Given the description of an element on the screen output the (x, y) to click on. 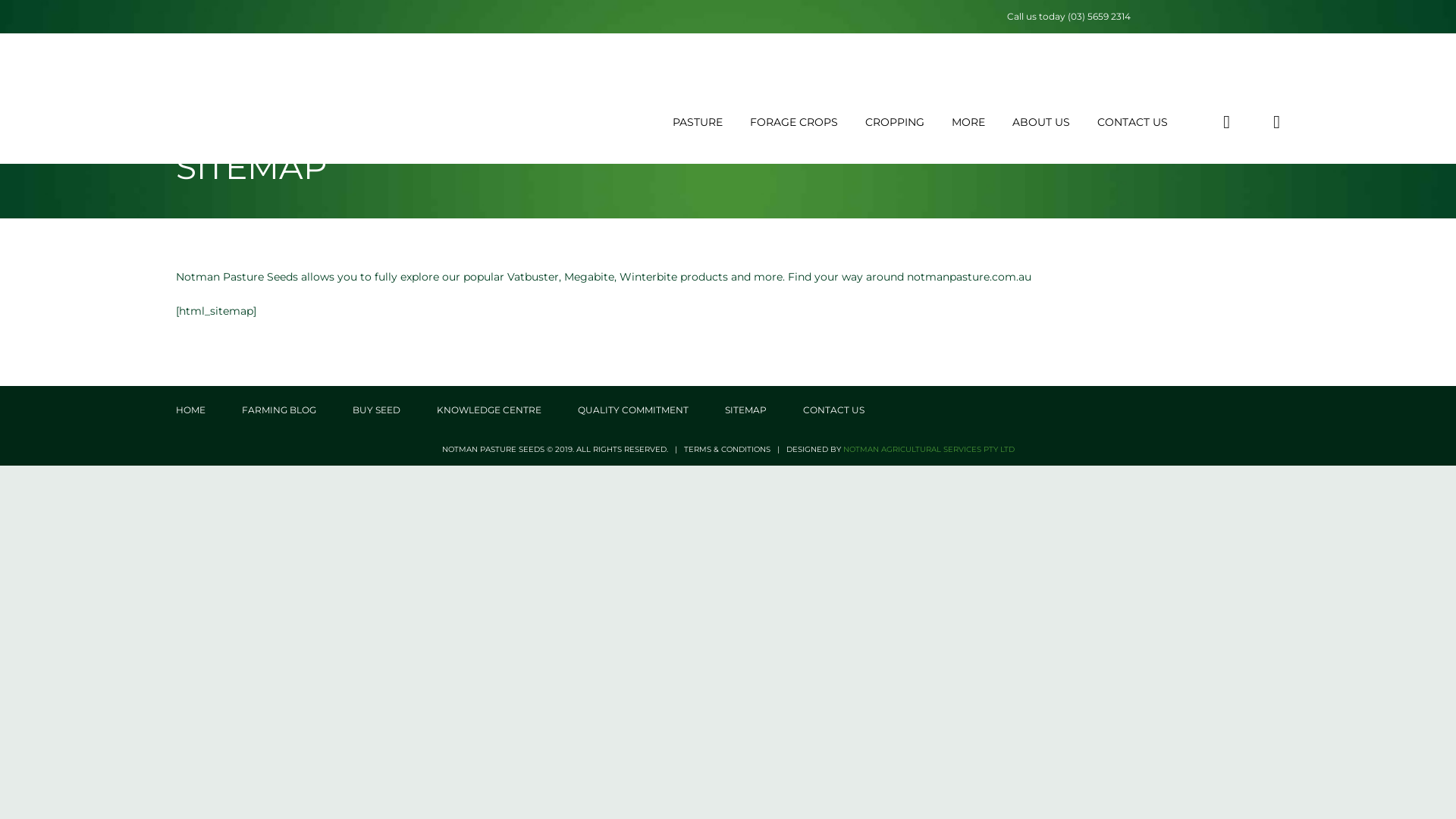
NOTMAN AGRICULTURAL SERVICES PTY LTD Element type: text (928, 449)
FARMING BLOG Element type: text (278, 409)
QUALITY COMMITMENT Element type: text (632, 409)
CROPPING Element type: text (894, 121)
MORE Element type: text (968, 121)
KNOWLEDGE CENTRE Element type: text (488, 409)
Search Element type: text (1197, 189)
FORAGE CROPS Element type: text (793, 121)
CONTACT US Element type: text (833, 409)
HOME Element type: text (190, 409)
PASTURE Element type: text (697, 121)
SITEMAP Element type: text (745, 409)
ABOUT US Element type: text (1041, 121)
BUY SEED Element type: text (376, 409)
CONTACT US Element type: text (1132, 121)
Notman Pasture Seeds Australia Element type: hover (328, 98)
